Given the description of an element on the screen output the (x, y) to click on. 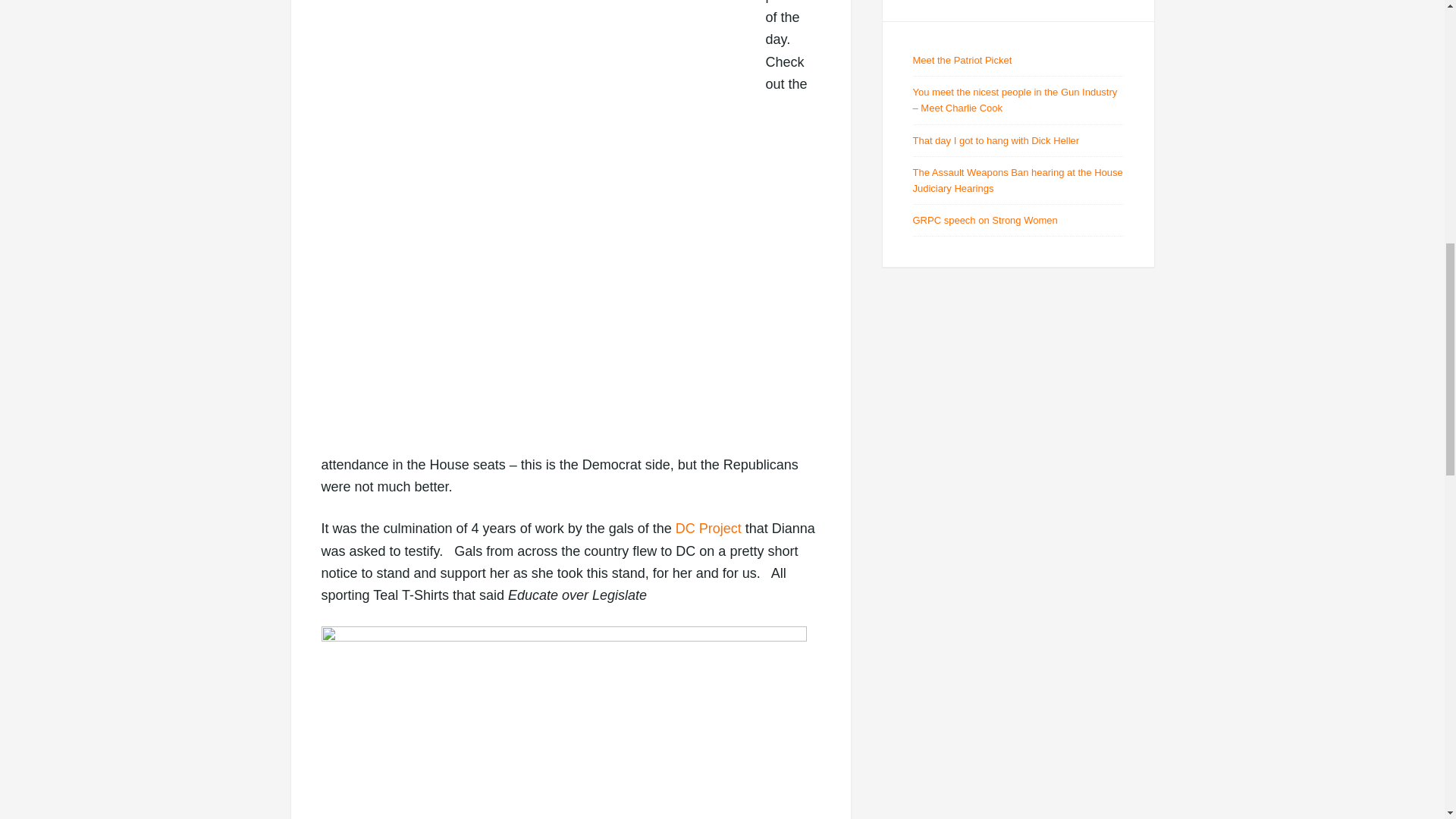
Meet the Patriot Picket (961, 60)
DC Project (708, 528)
That day I got to hang with Dick Heller (996, 140)
GRPC speech on Strong Women (985, 220)
